Given the description of an element on the screen output the (x, y) to click on. 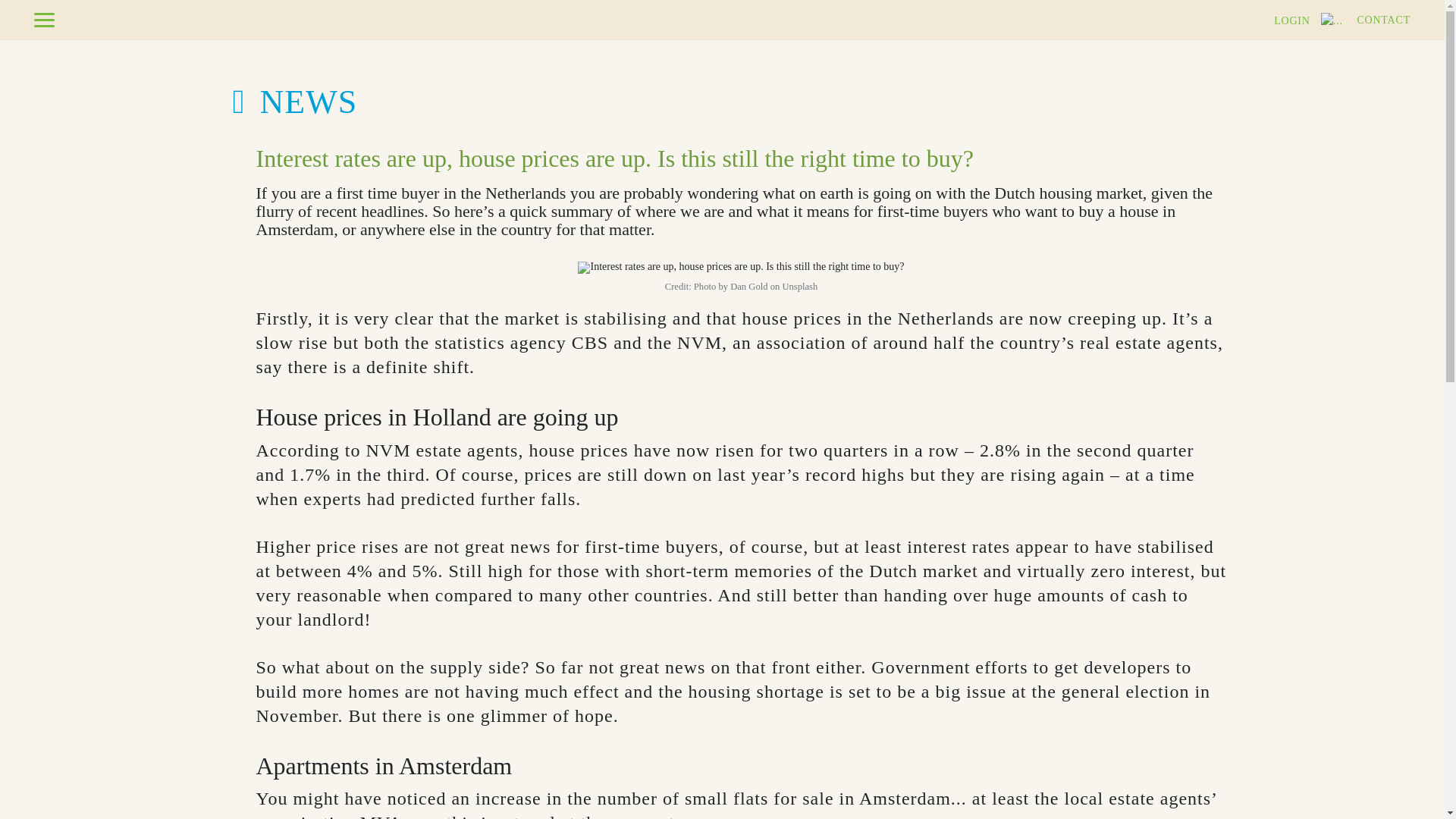
Dan Gold (748, 286)
NEWS (288, 101)
CONTACT (1383, 19)
LOGIN (1308, 19)
